Given the description of an element on the screen output the (x, y) to click on. 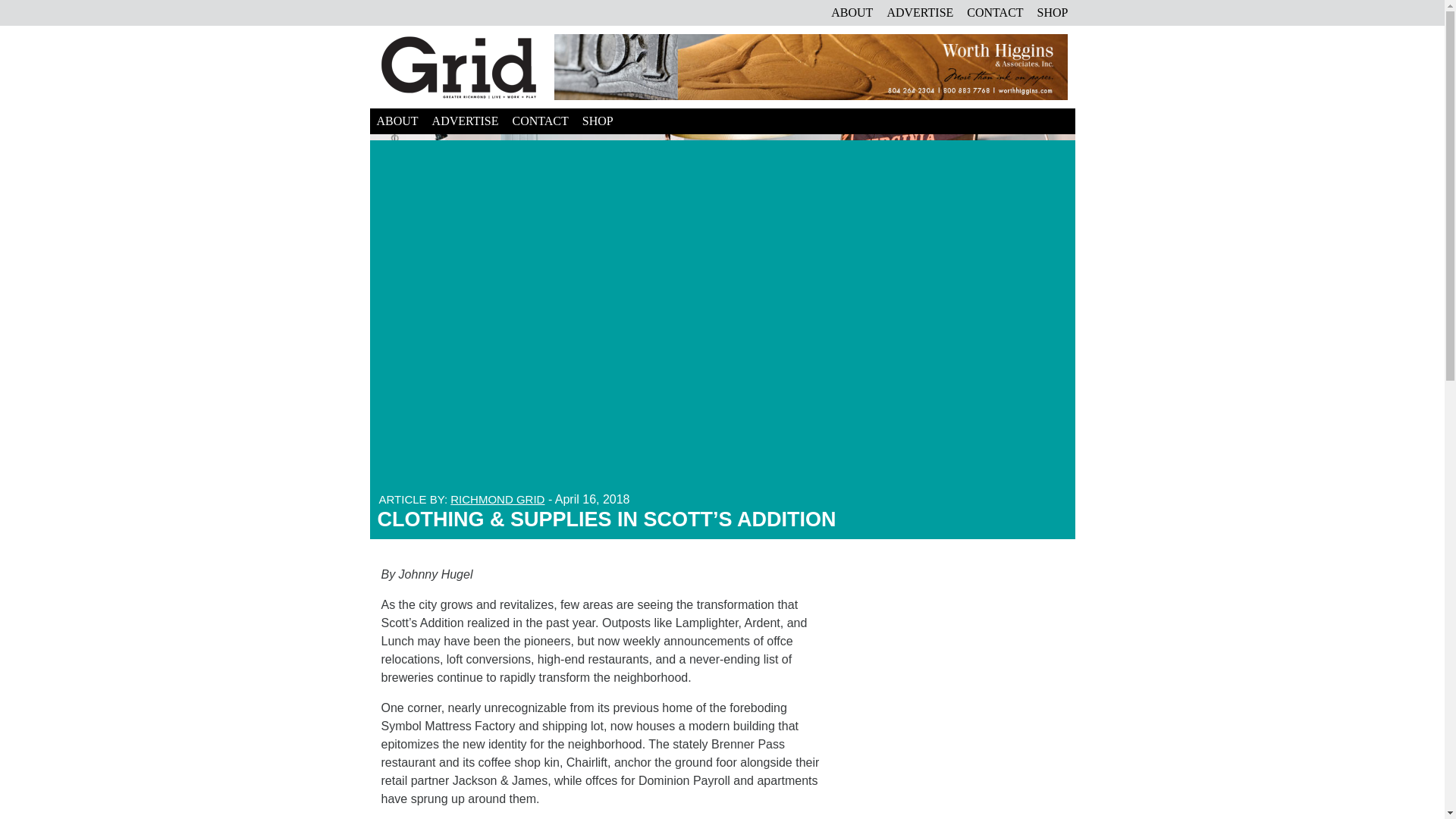
CONTACT (540, 121)
ADVERTISE (919, 12)
SHOP (597, 121)
RICHMOND GRID (496, 499)
ADVERTISE (465, 121)
Page 76 (604, 692)
CONTACT (994, 12)
SHOP (1052, 12)
ABOUT (397, 121)
ABOUT (851, 12)
